Given the description of an element on the screen output the (x, y) to click on. 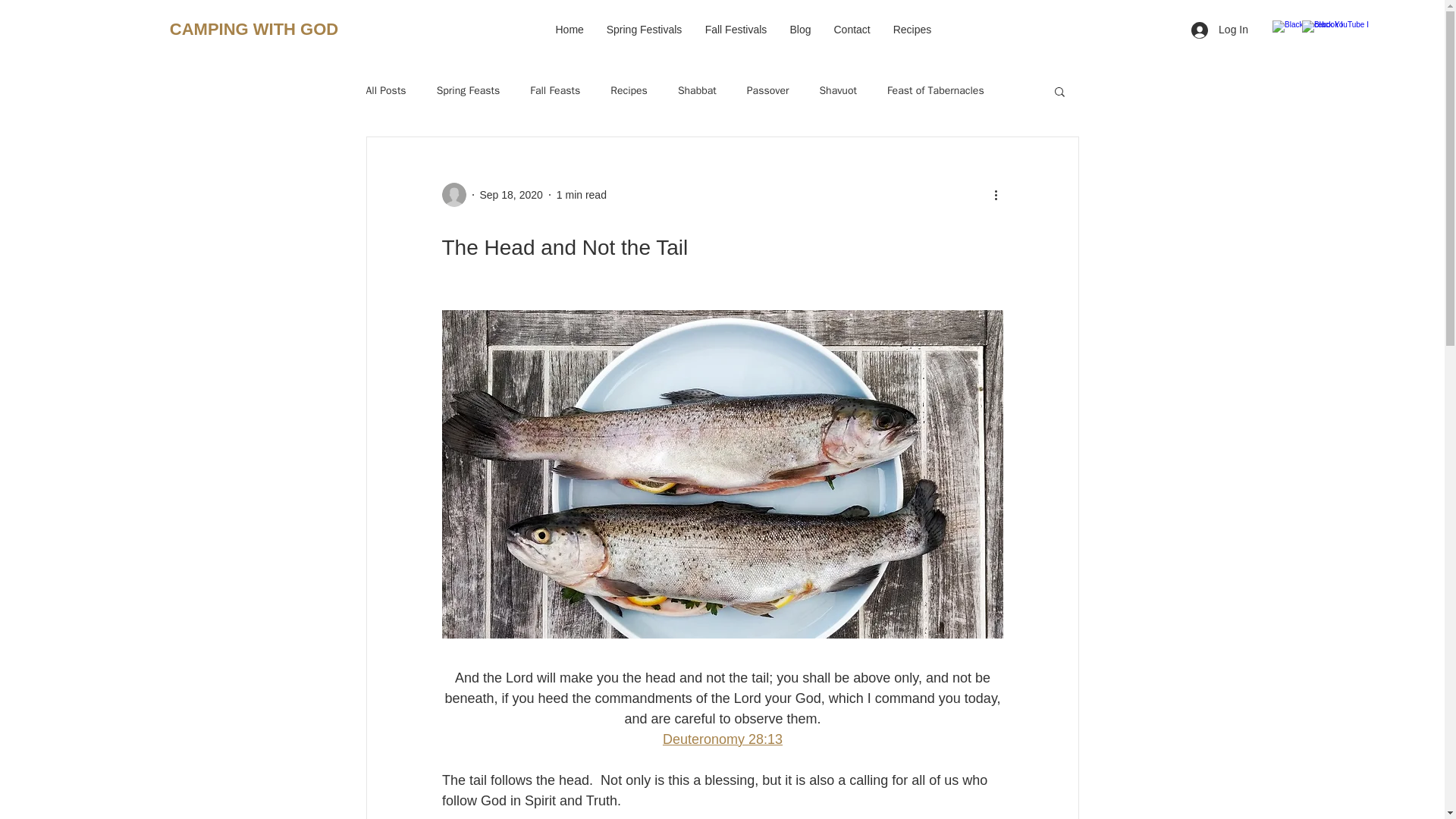
Spring Festivals (643, 29)
CAMPING WITH GOD (253, 29)
All Posts (385, 90)
Passover (767, 90)
Shavuot (837, 90)
Fall Festivals (735, 29)
Spring Feasts (468, 90)
Feast of Tabernacles (935, 90)
Sep 18, 2020 (510, 193)
Contact (851, 29)
Log In (1219, 30)
1 min read (581, 193)
Home (569, 29)
Blog (799, 29)
Fall Feasts (554, 90)
